Given the description of an element on the screen output the (x, y) to click on. 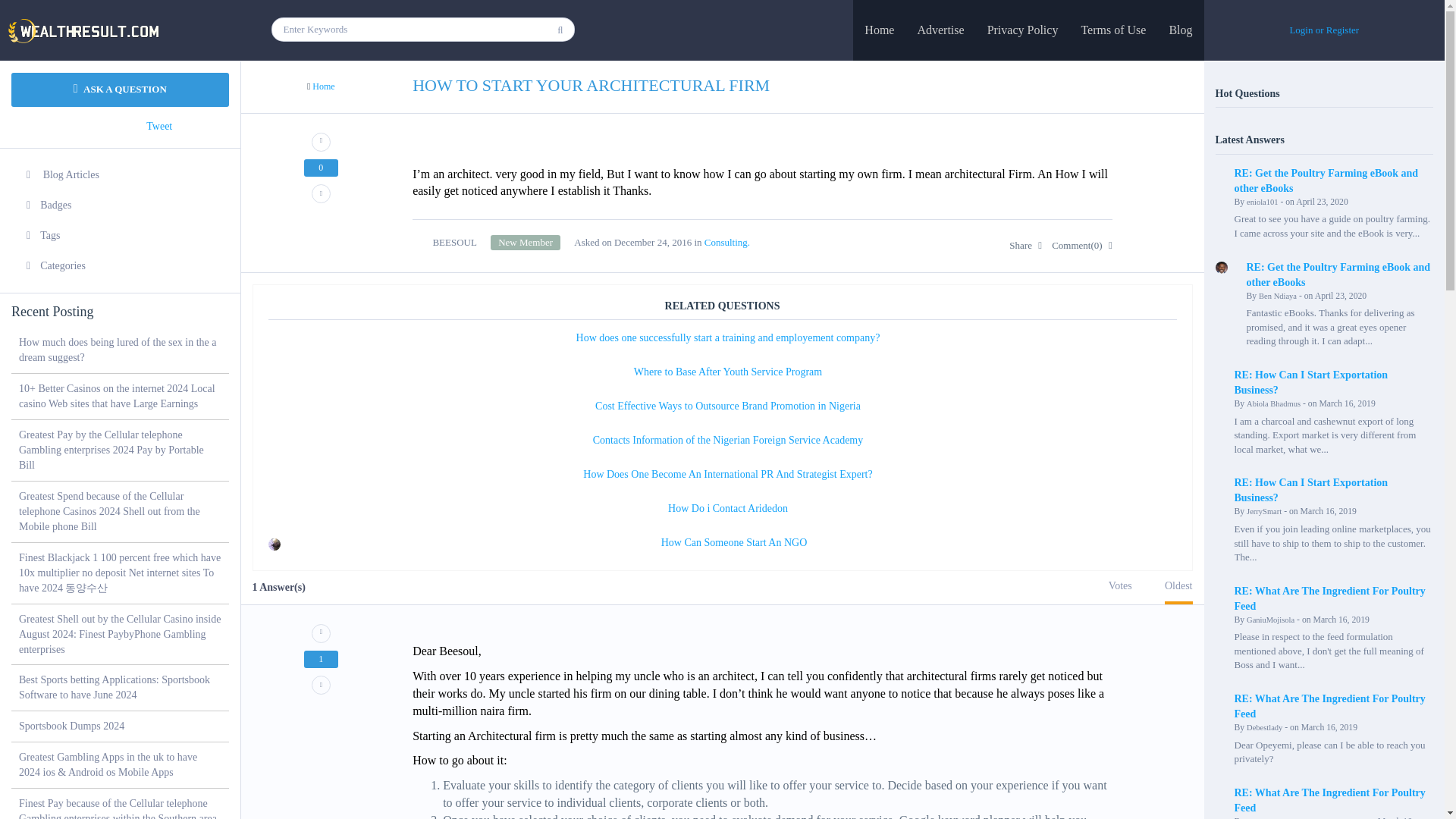
This is not useful (320, 684)
11 (525, 242)
This is useful. (320, 633)
This is not useful (320, 193)
This is useful. (320, 141)
